Given the description of an element on the screen output the (x, y) to click on. 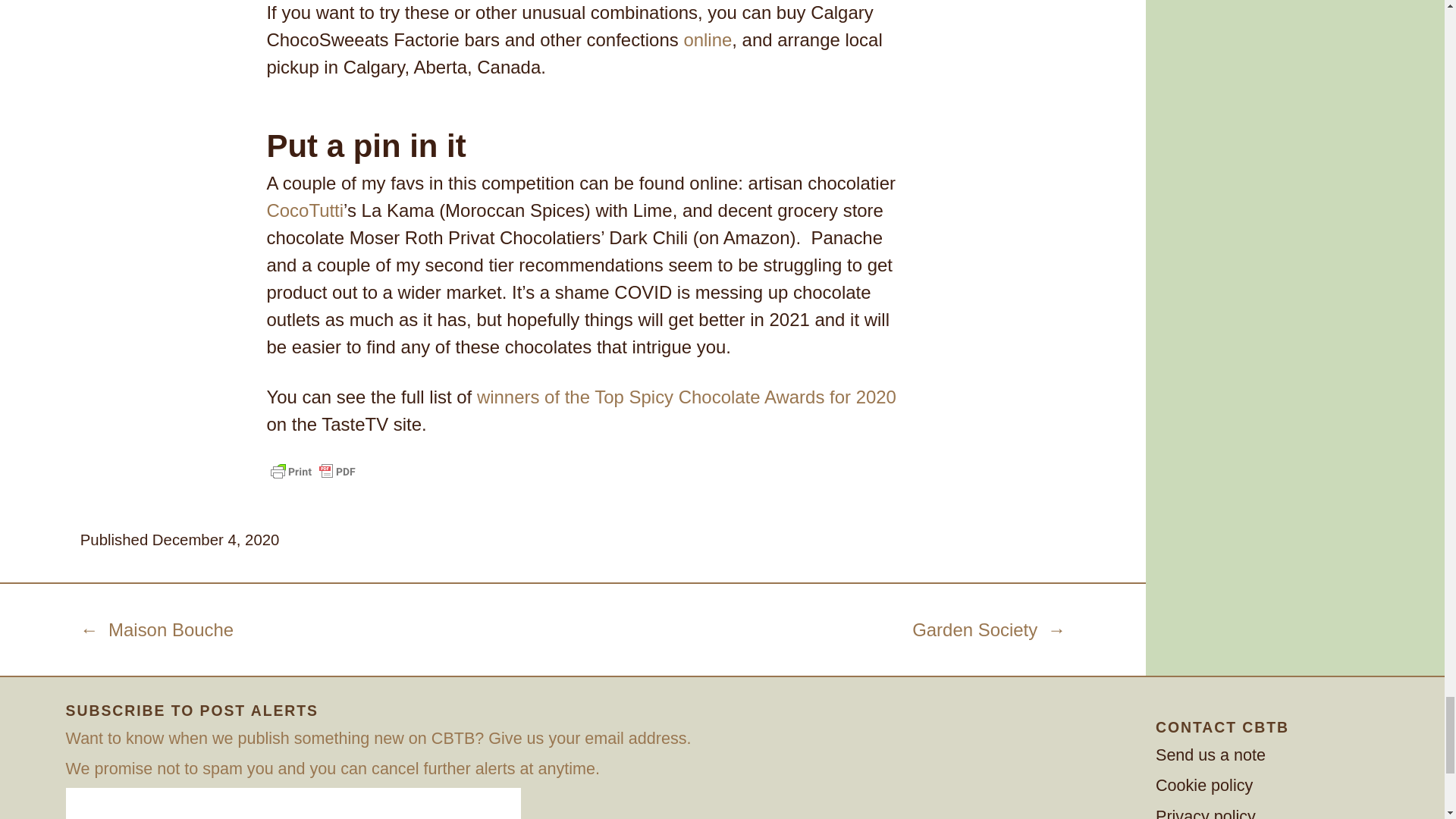
winners of the Top Spicy Chocolate Awards for 2020 (686, 396)
online (707, 39)
CocoTutti (304, 209)
